Given the description of an element on the screen output the (x, y) to click on. 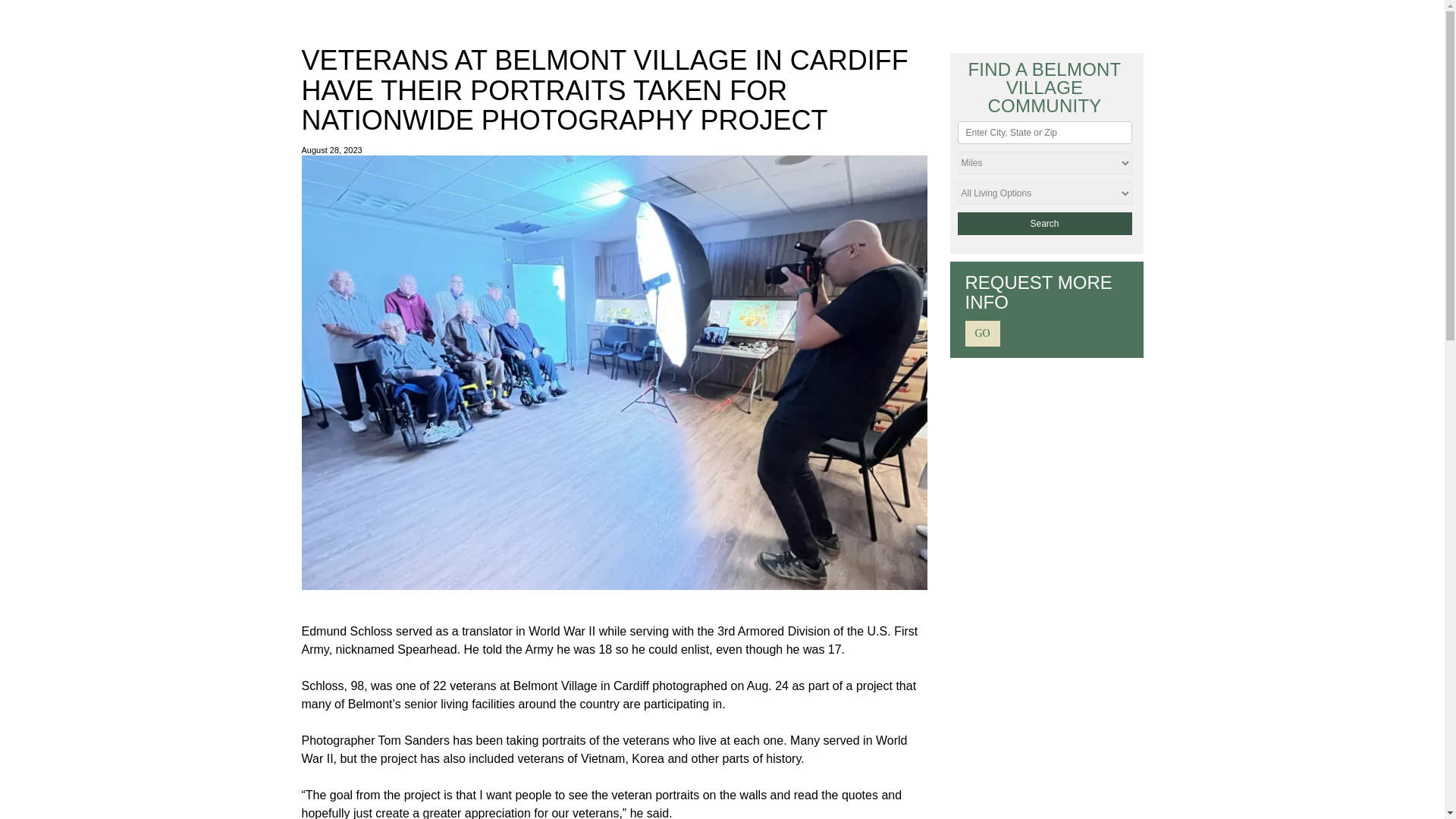
Search (1043, 223)
